Given the description of an element on the screen output the (x, y) to click on. 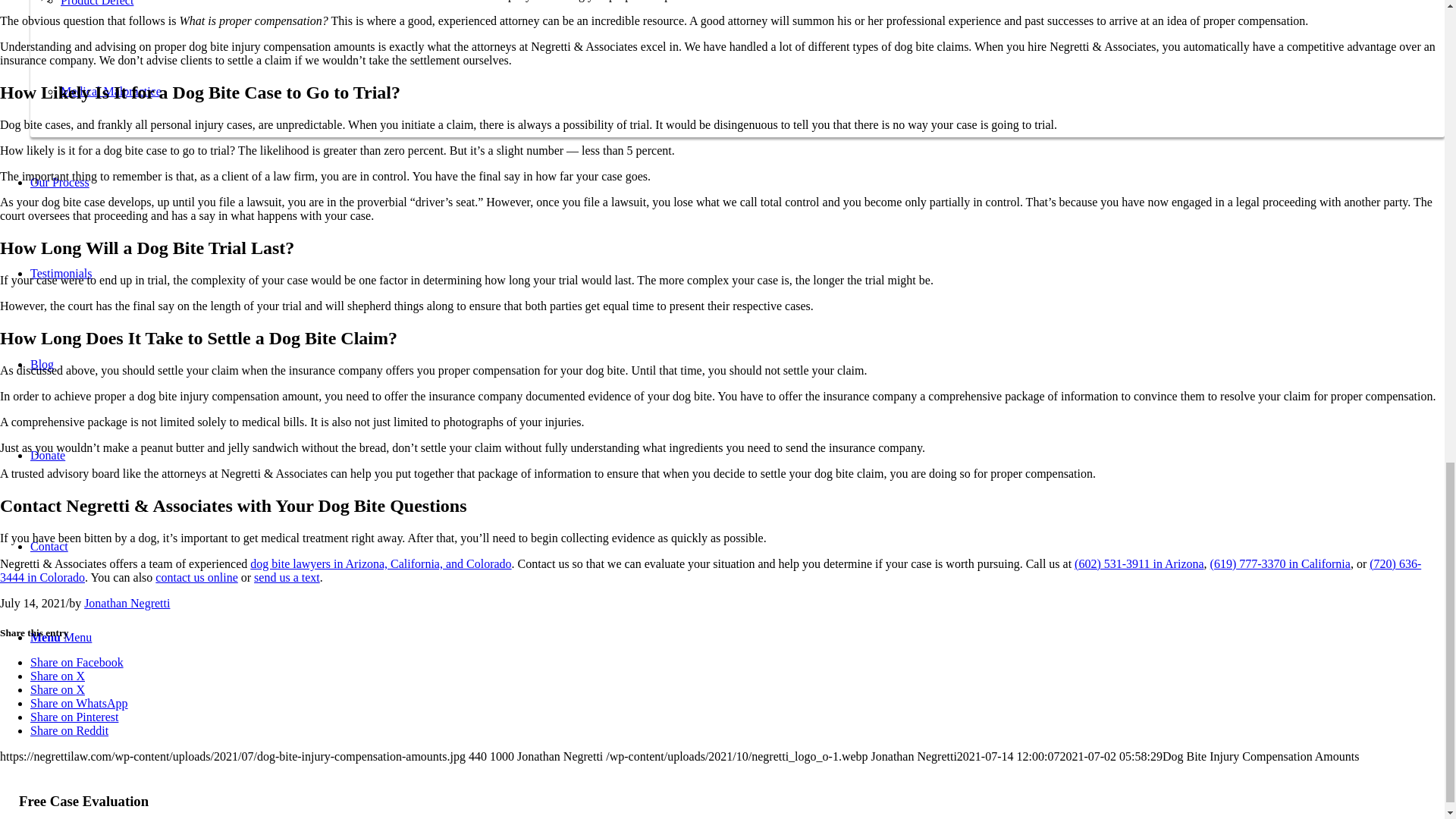
Donate (47, 454)
Blog (41, 364)
Share on Facebook (76, 662)
Share on X (57, 689)
Medical Malpractice (111, 91)
contact us online (196, 576)
Our Process (59, 182)
send us a text (286, 576)
Posts by Jonathan Negretti (127, 603)
Share on X (57, 675)
Share on WhatsApp (79, 703)
Contact (49, 545)
Donate (47, 454)
Product Defect (97, 3)
Jonathan Negretti (127, 603)
